Given the description of an element on the screen output the (x, y) to click on. 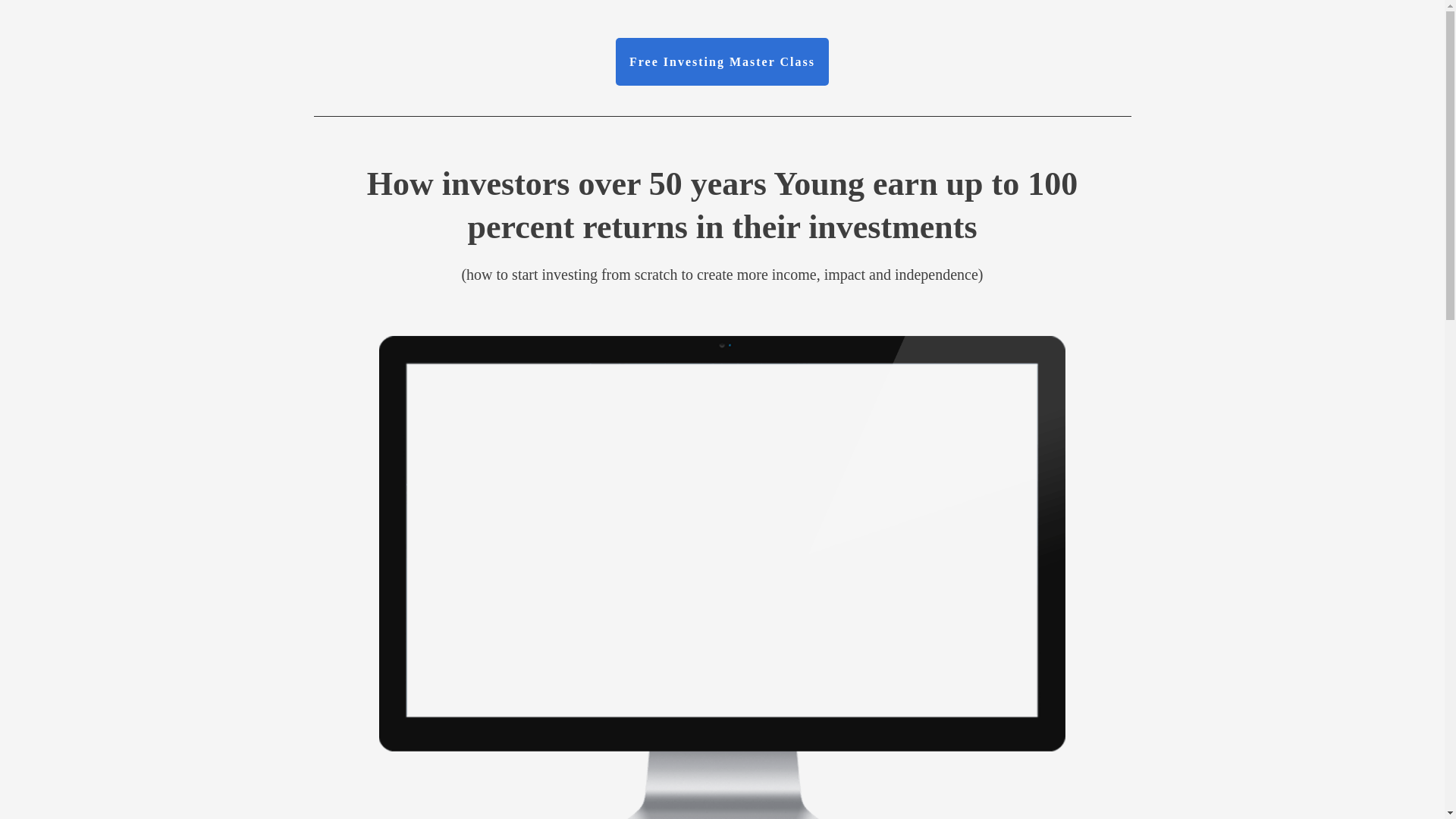
Free Investing Master Class (721, 61)
